Given the description of an element on the screen output the (x, y) to click on. 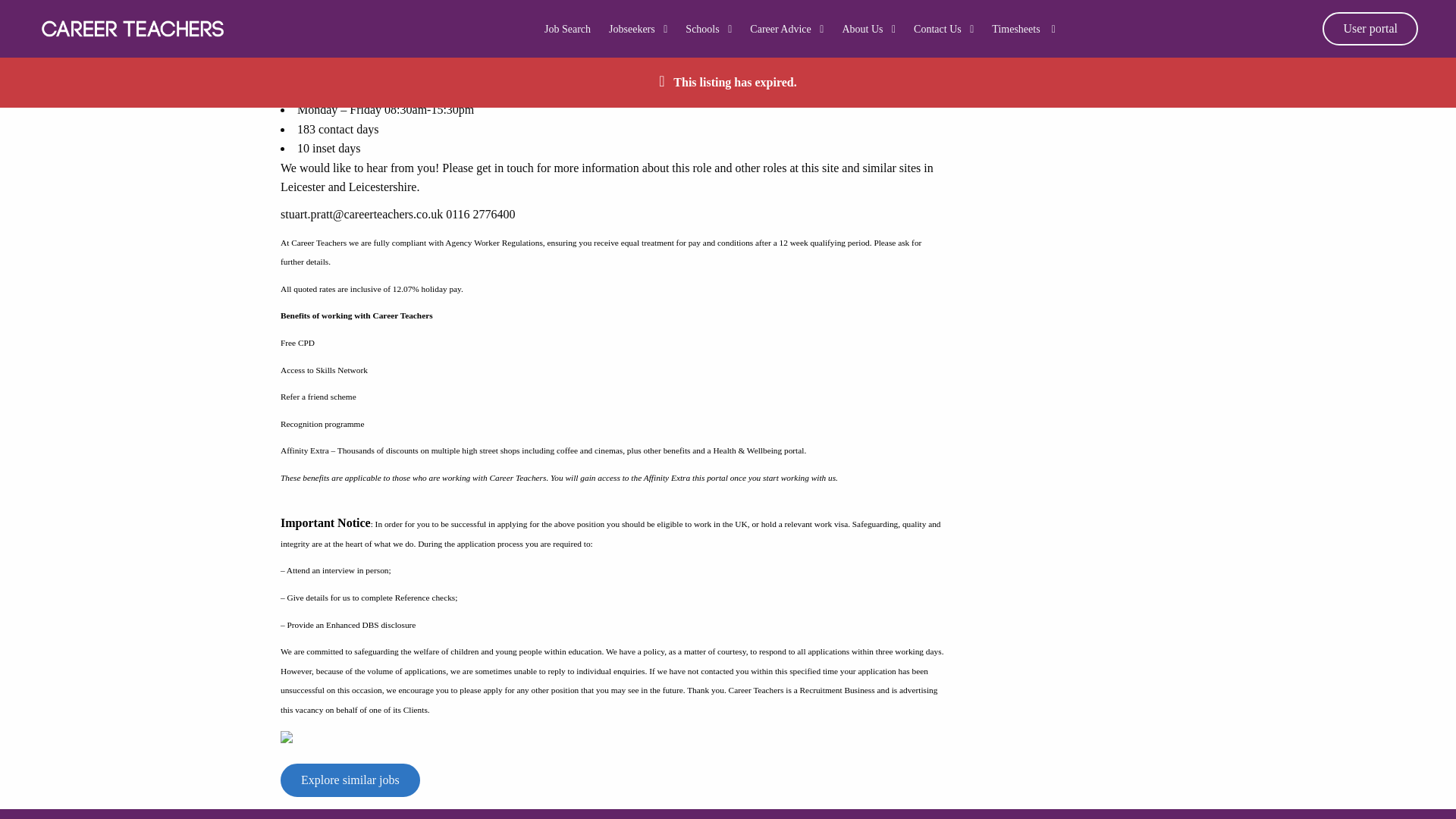
Explore similar jobs (350, 779)
